Given the description of an element on the screen output the (x, y) to click on. 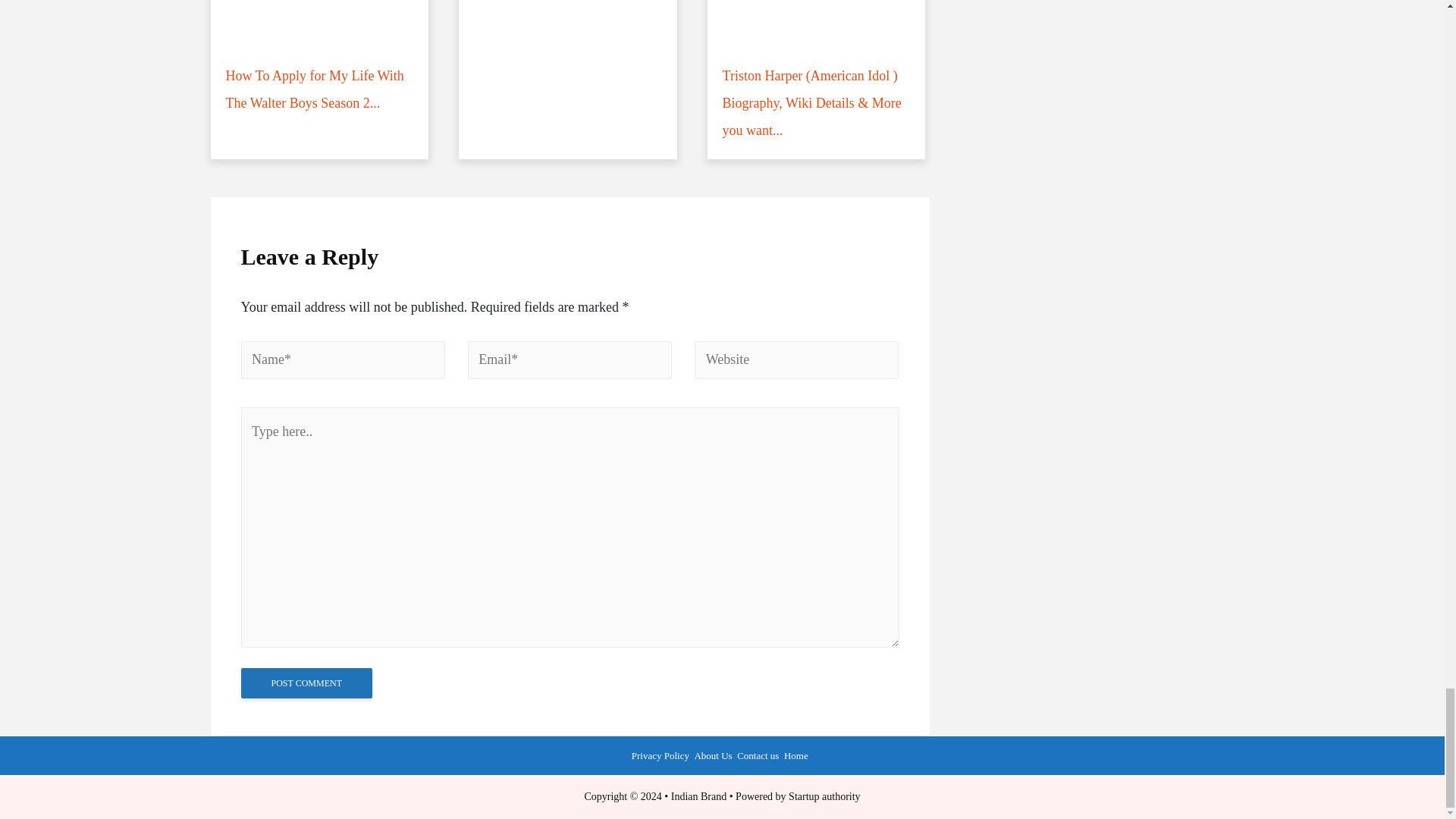
Post Comment (306, 683)
How To Apply for My Life With The Walter Boys Season 2... (320, 65)
Post Comment (306, 683)
